Given the description of an element on the screen output the (x, y) to click on. 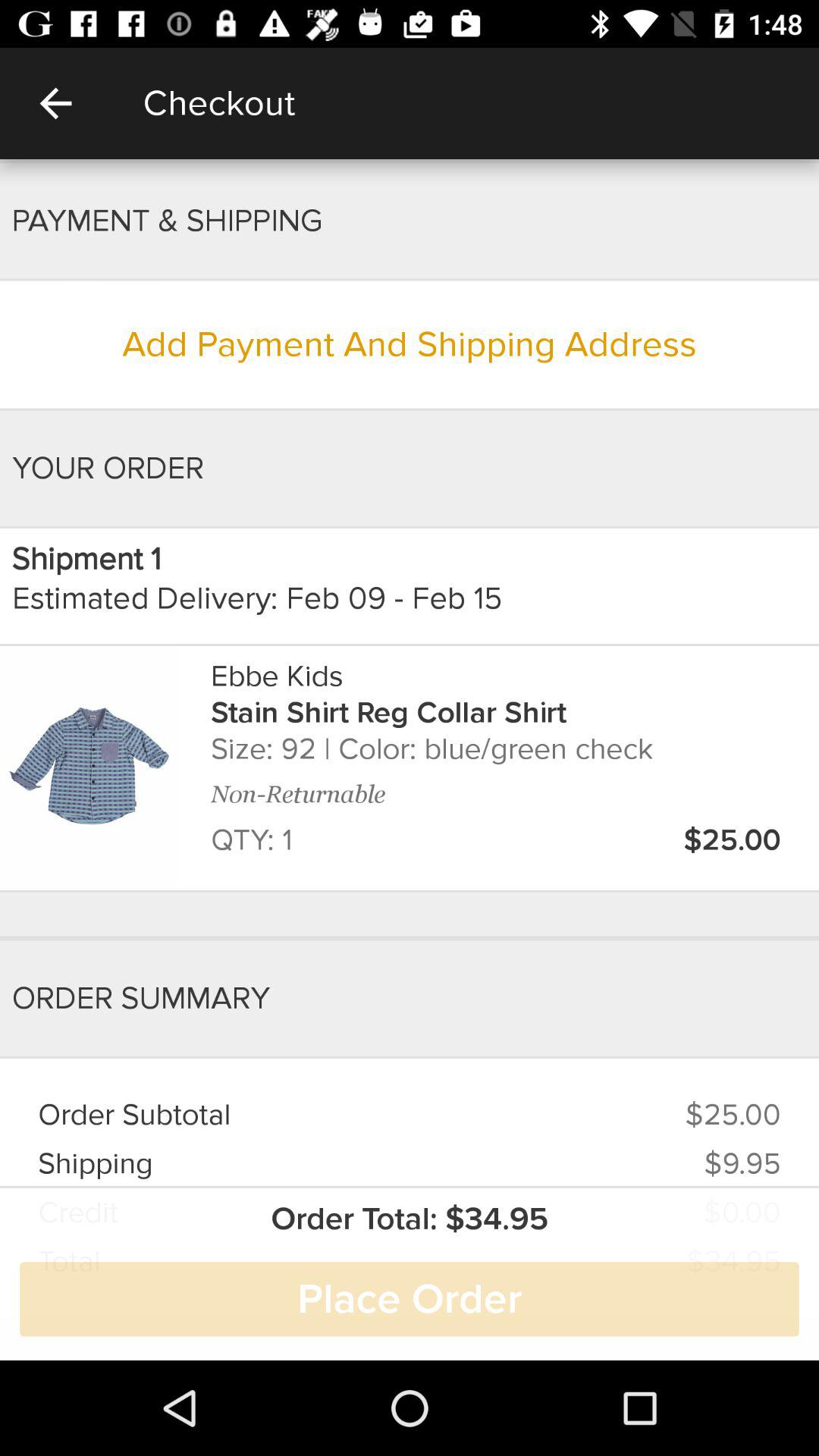
open the item below the order total 34 item (409, 1299)
